Given the description of an element on the screen output the (x, y) to click on. 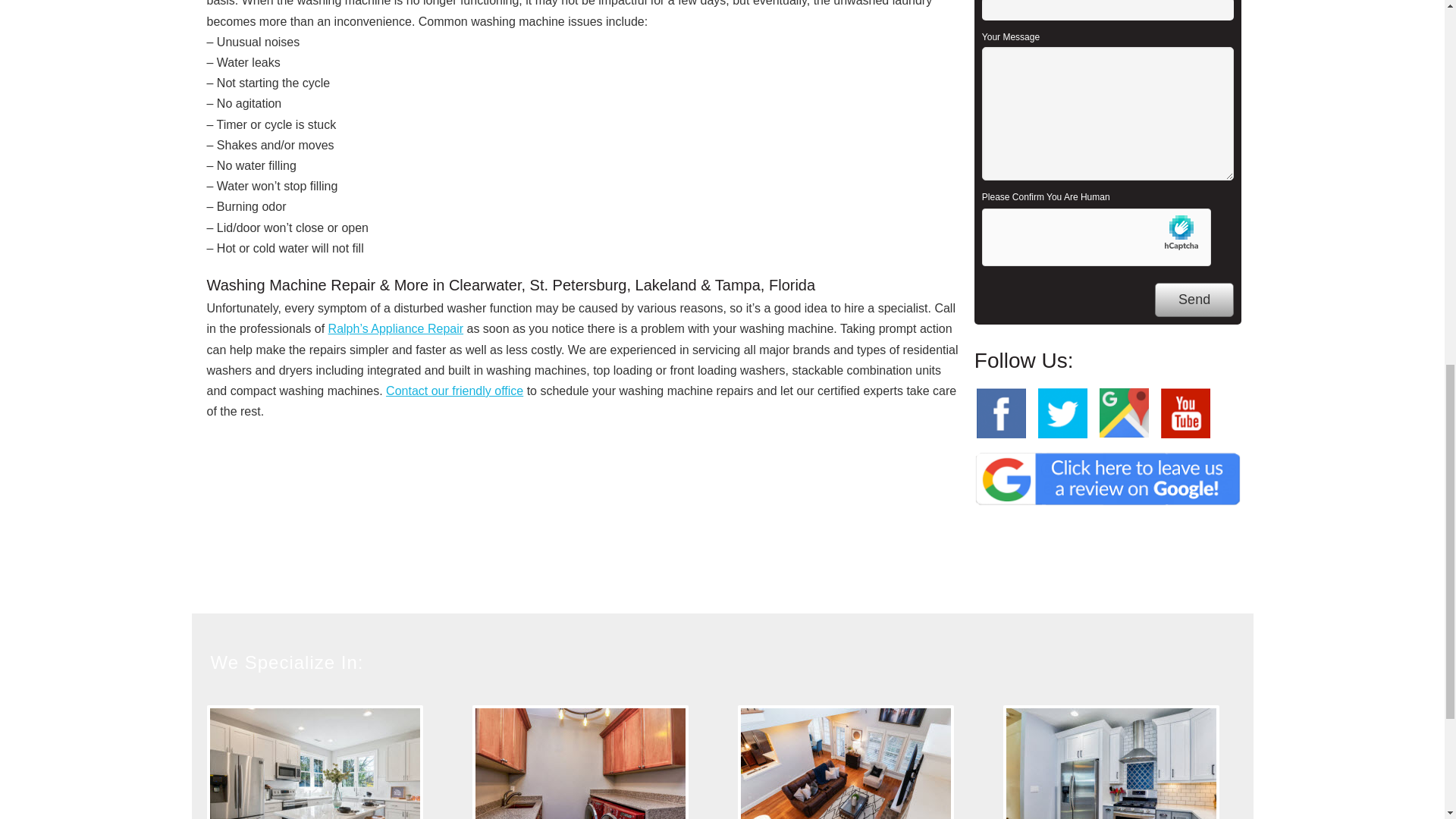
Send (1193, 299)
Send (1193, 299)
Contact our friendly office (453, 390)
